Given the description of an element on the screen output the (x, y) to click on. 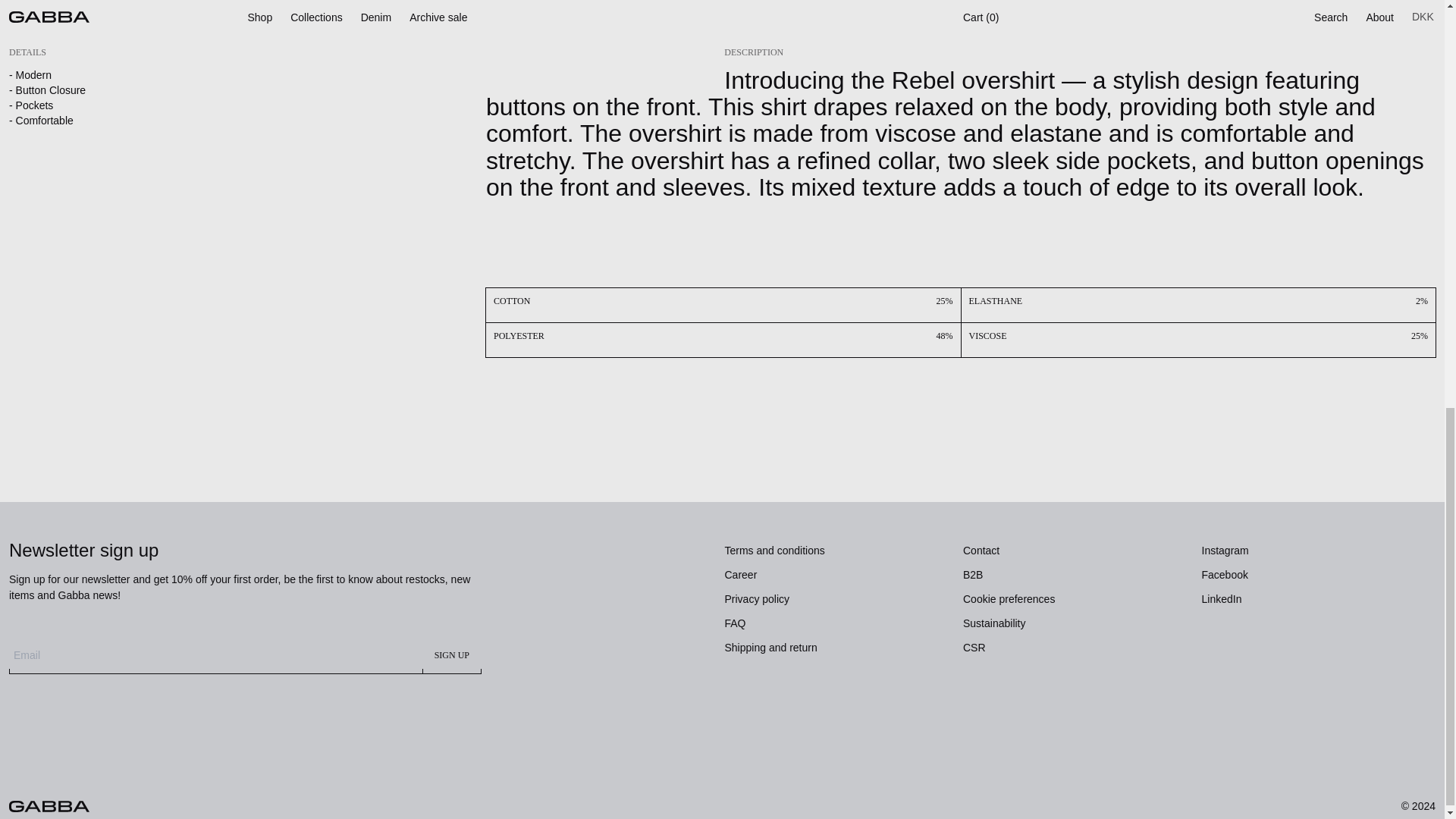
Privacy policy (757, 598)
FAQ (735, 623)
Shipping and return (770, 647)
Contact (980, 550)
Cookie preferences (1008, 598)
B2B (972, 574)
Career (741, 574)
SIGN UP (451, 654)
Terms and conditions (775, 550)
